Given the description of an element on the screen output the (x, y) to click on. 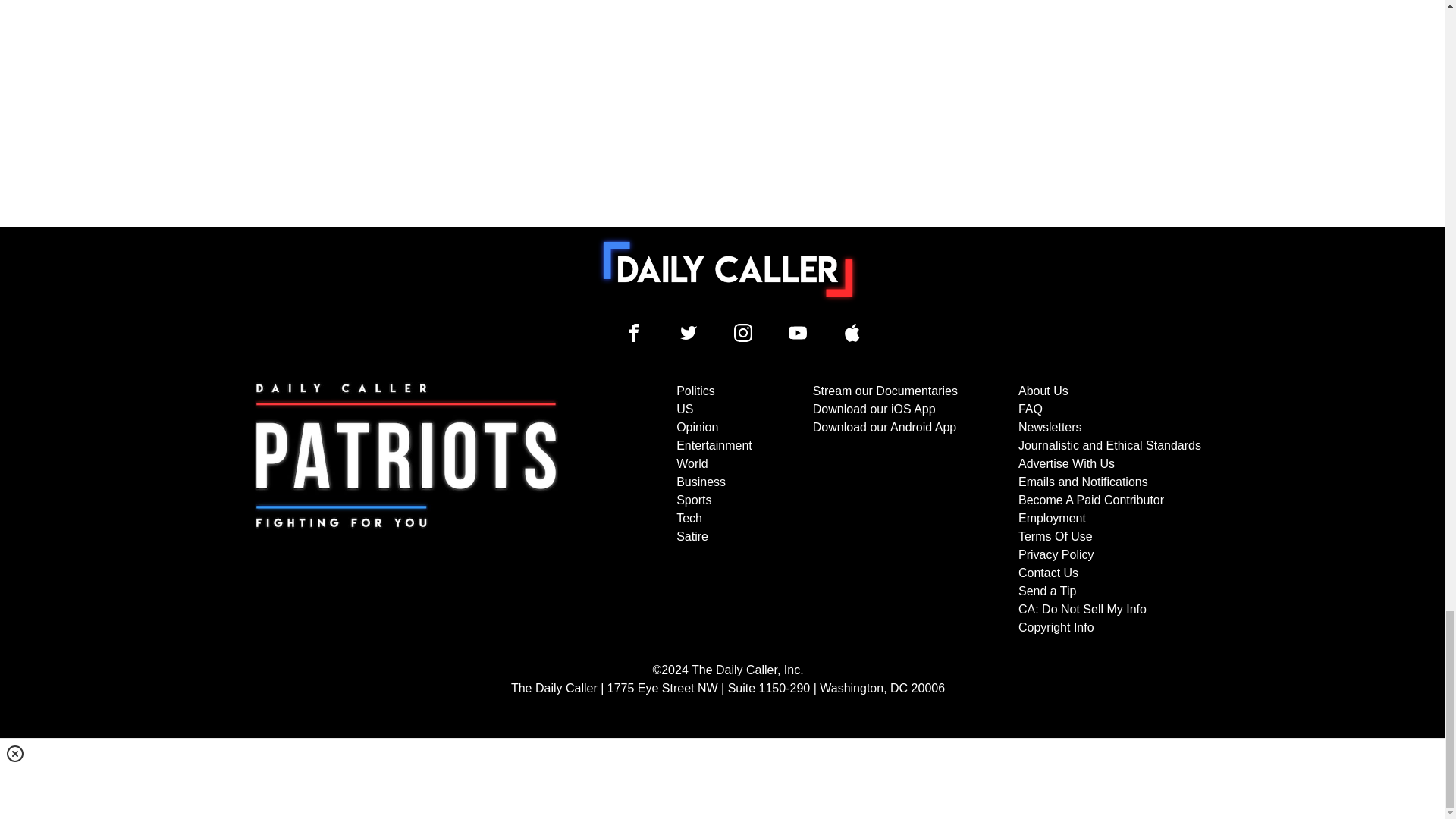
Daily Caller Facebook (633, 332)
Daily Caller Twitter (688, 332)
Daily Caller YouTube (852, 332)
Subscribe to The Daily Caller (405, 509)
Daily Caller YouTube (797, 332)
To home page (727, 268)
Daily Caller Instagram (742, 332)
